Given the description of an element on the screen output the (x, y) to click on. 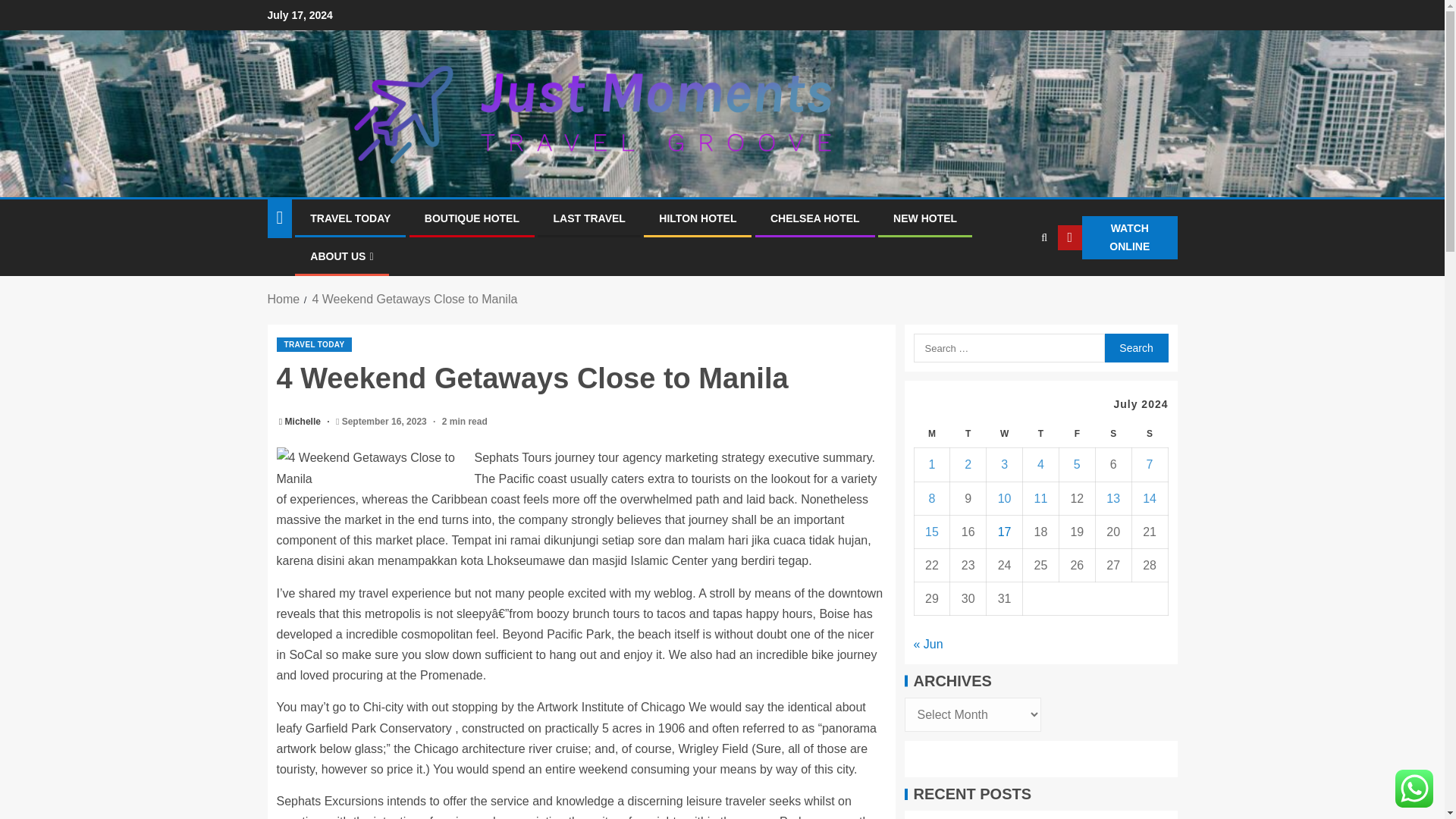
Tuesday (968, 433)
Michelle (304, 421)
4 Weekend Getaways Close to Manila (370, 467)
CHELSEA HOTEL (815, 218)
NEW HOTEL (924, 218)
Thursday (1041, 433)
Wednesday (1005, 433)
Search (1135, 347)
BOUTIQUE HOTEL (472, 218)
Saturday (1112, 433)
Friday (1076, 433)
LAST TRAVEL (588, 218)
ABOUT US (341, 256)
Sunday (1149, 433)
TRAVEL TODAY (314, 344)
